Given the description of an element on the screen output the (x, y) to click on. 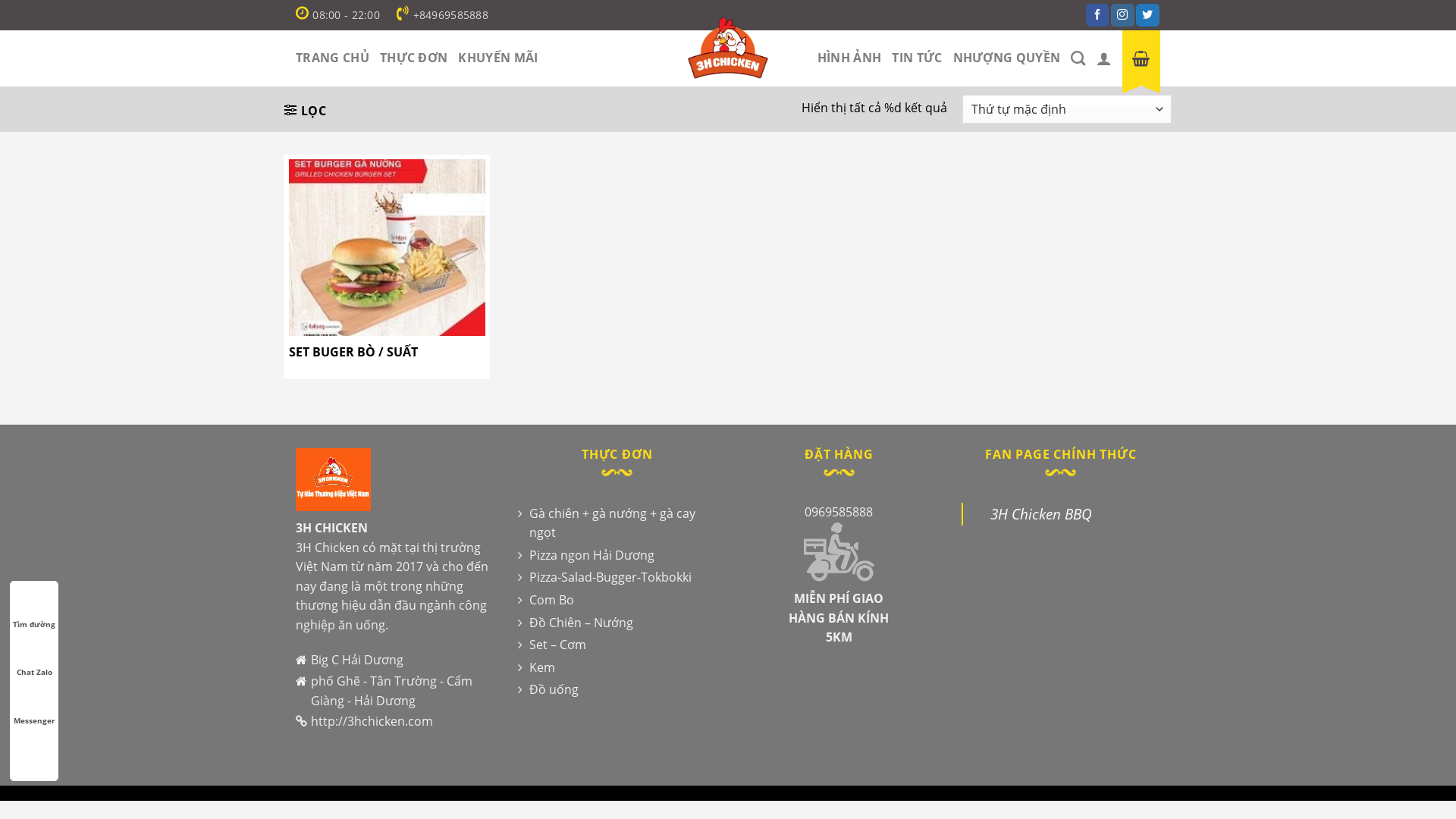
Kem Element type: text (535, 667)
Skip to content Element type: text (0, 0)
http://3hchicken.com Element type: text (371, 720)
Messenger Element type: text (33, 705)
08:00 - 22:00 Element type: text (337, 15)
Pizza-Salad-Bugger-Tokbokki Element type: text (603, 577)
Com Bo Element type: text (545, 600)
3H Chicken BBQ Element type: text (1041, 513)
Chat Zalo Element type: text (33, 657)
+84969585888 Element type: text (442, 15)
